Given the description of an element on the screen output the (x, y) to click on. 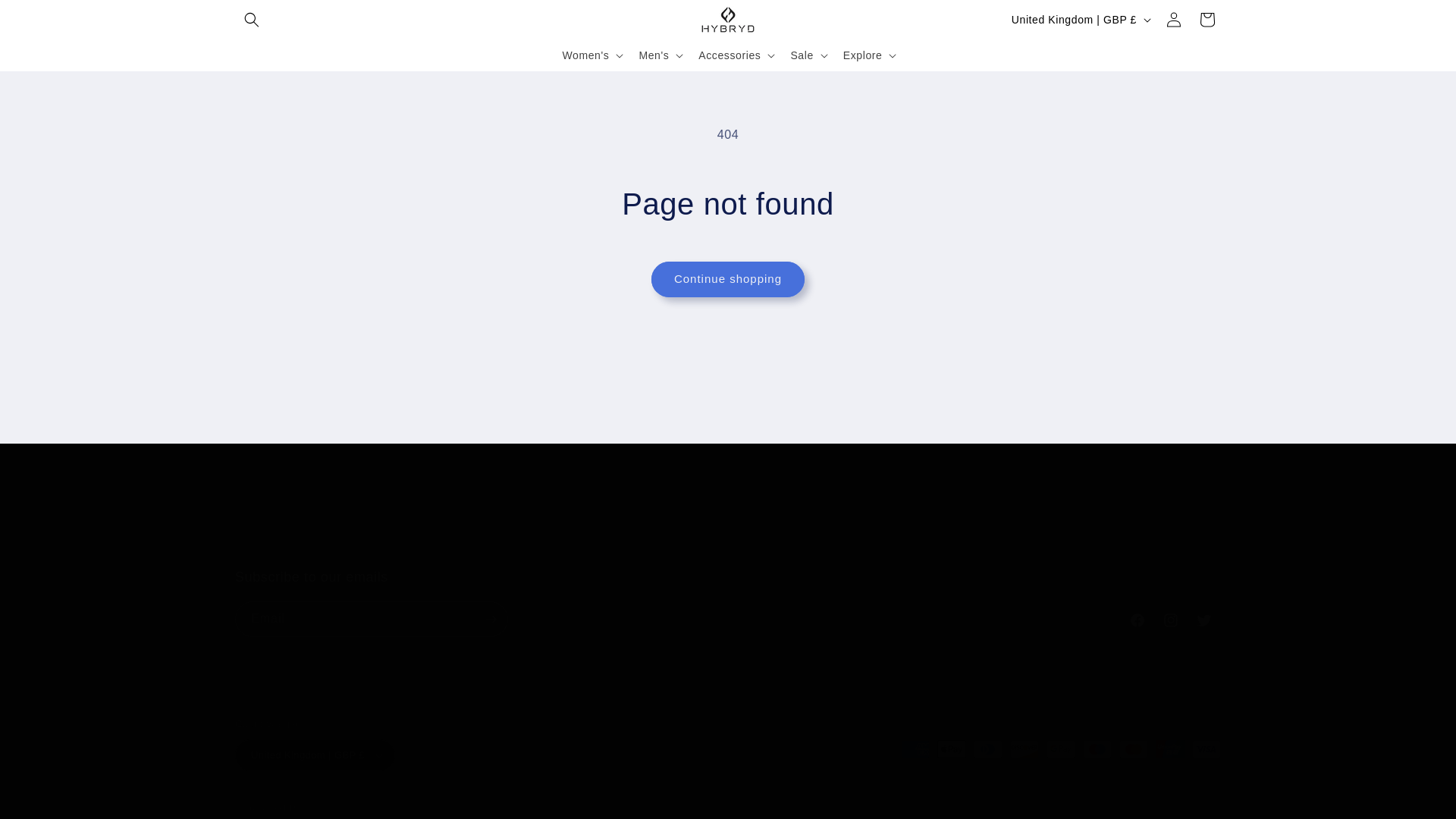
Skip to content (727, 602)
